Given the description of an element on the screen output the (x, y) to click on. 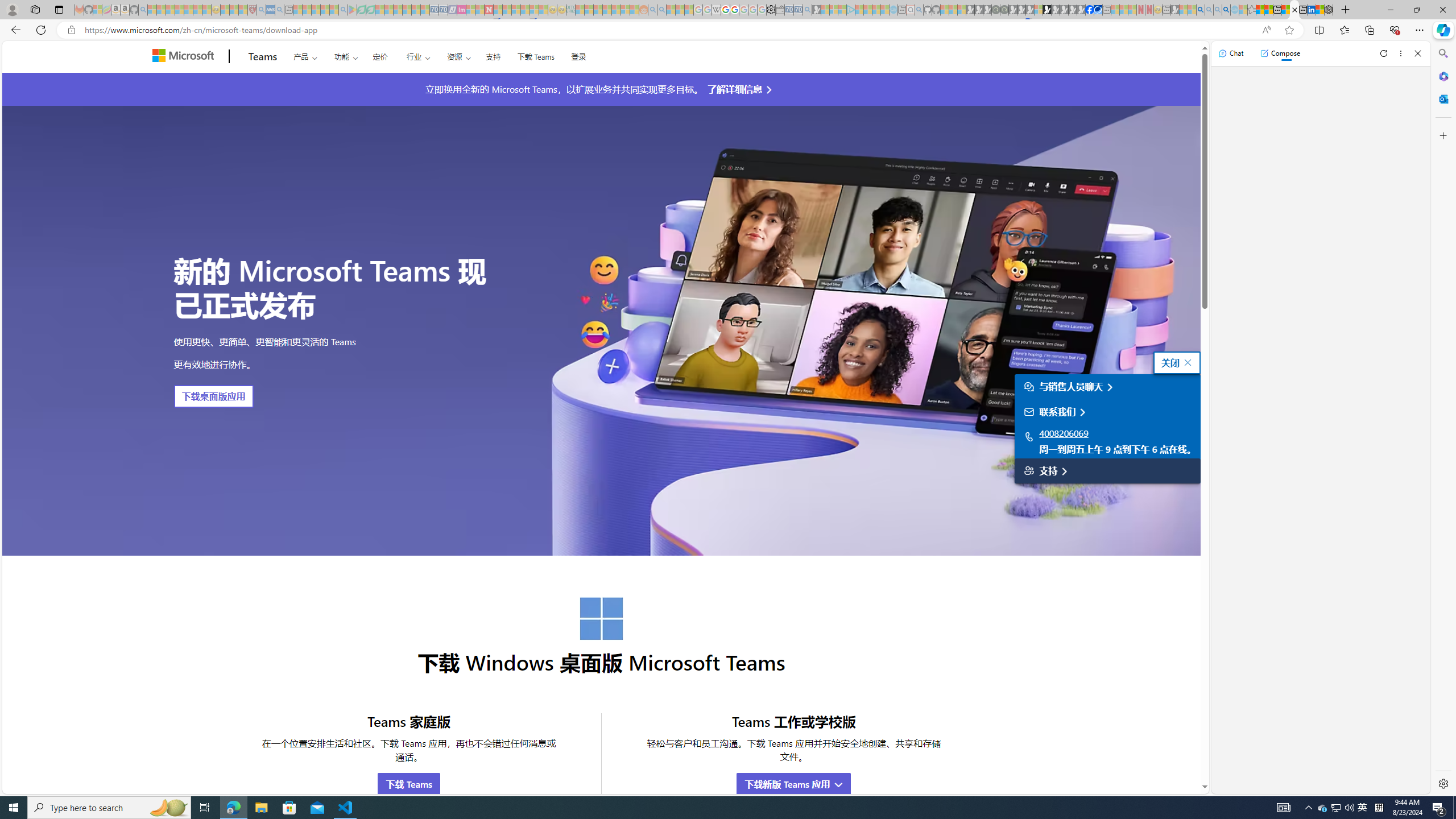
Teams (262, 56)
